Given the description of an element on the screen output the (x, y) to click on. 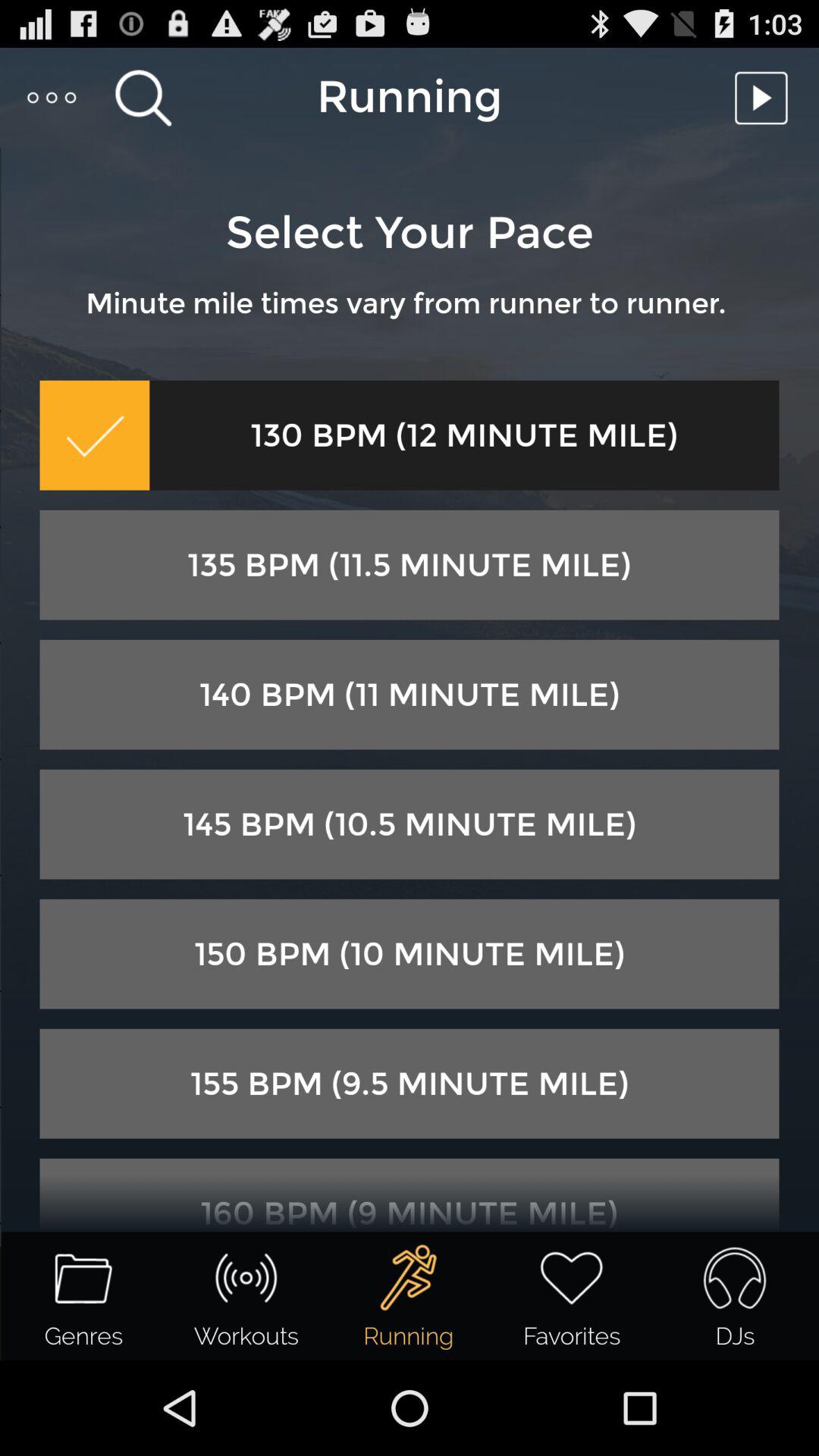
open more options (52, 97)
